Given the description of an element on the screen output the (x, y) to click on. 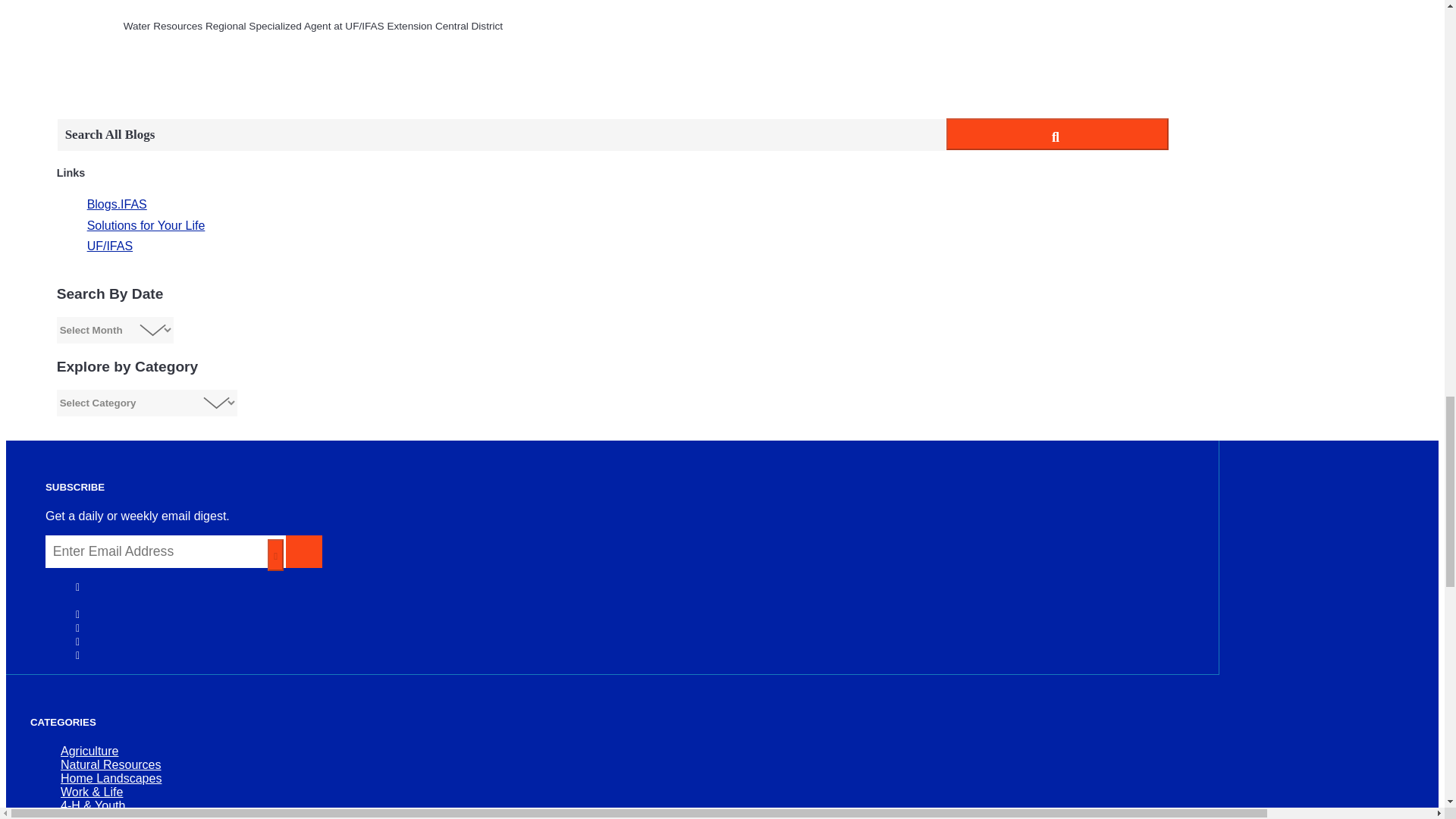
Enter Email Address (165, 551)
Search All Blogs (501, 134)
